Given the description of an element on the screen output the (x, y) to click on. 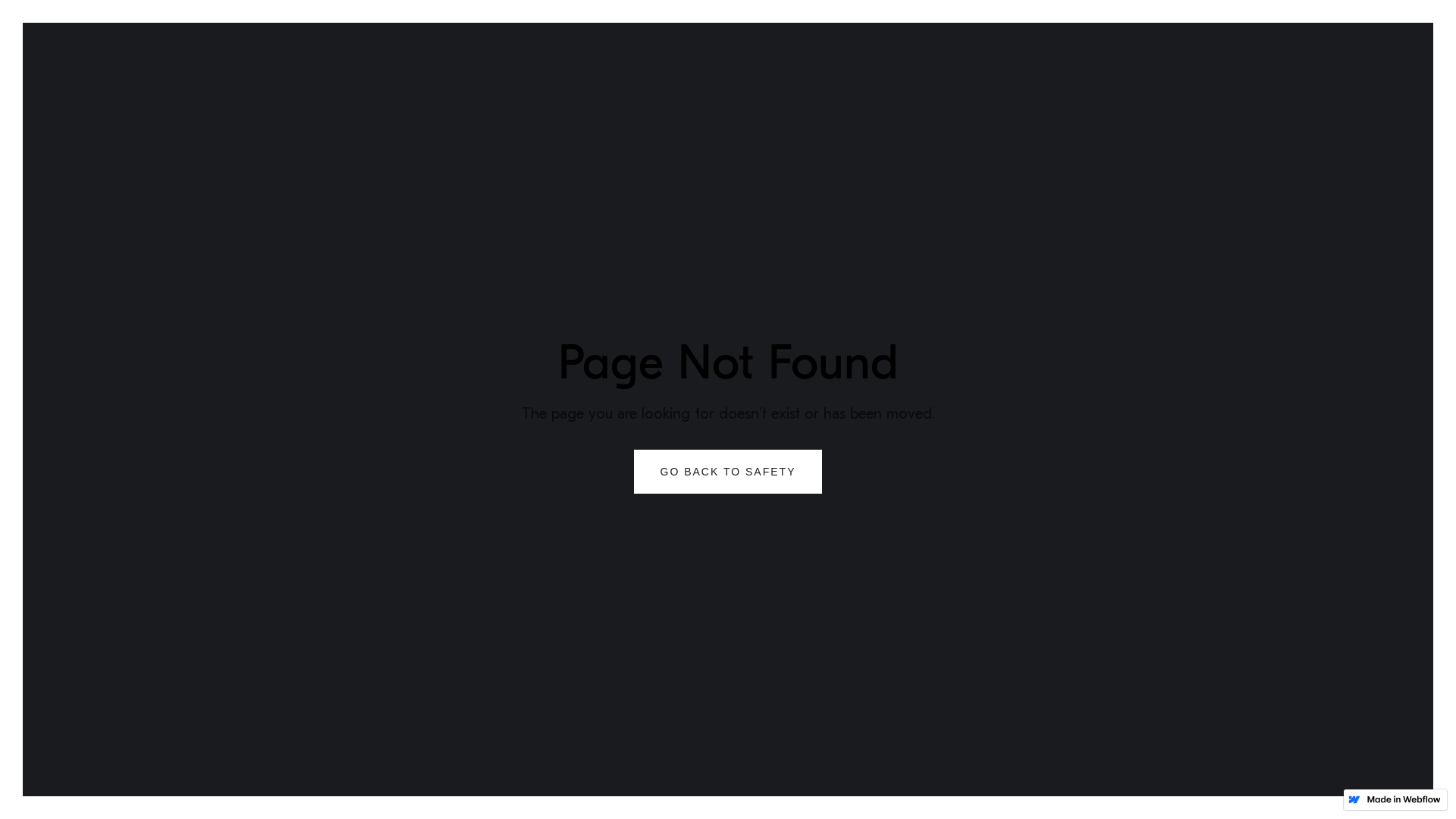
GO BACK TO SAFETY Element type: text (727, 471)
